Given the description of an element on the screen output the (x, y) to click on. 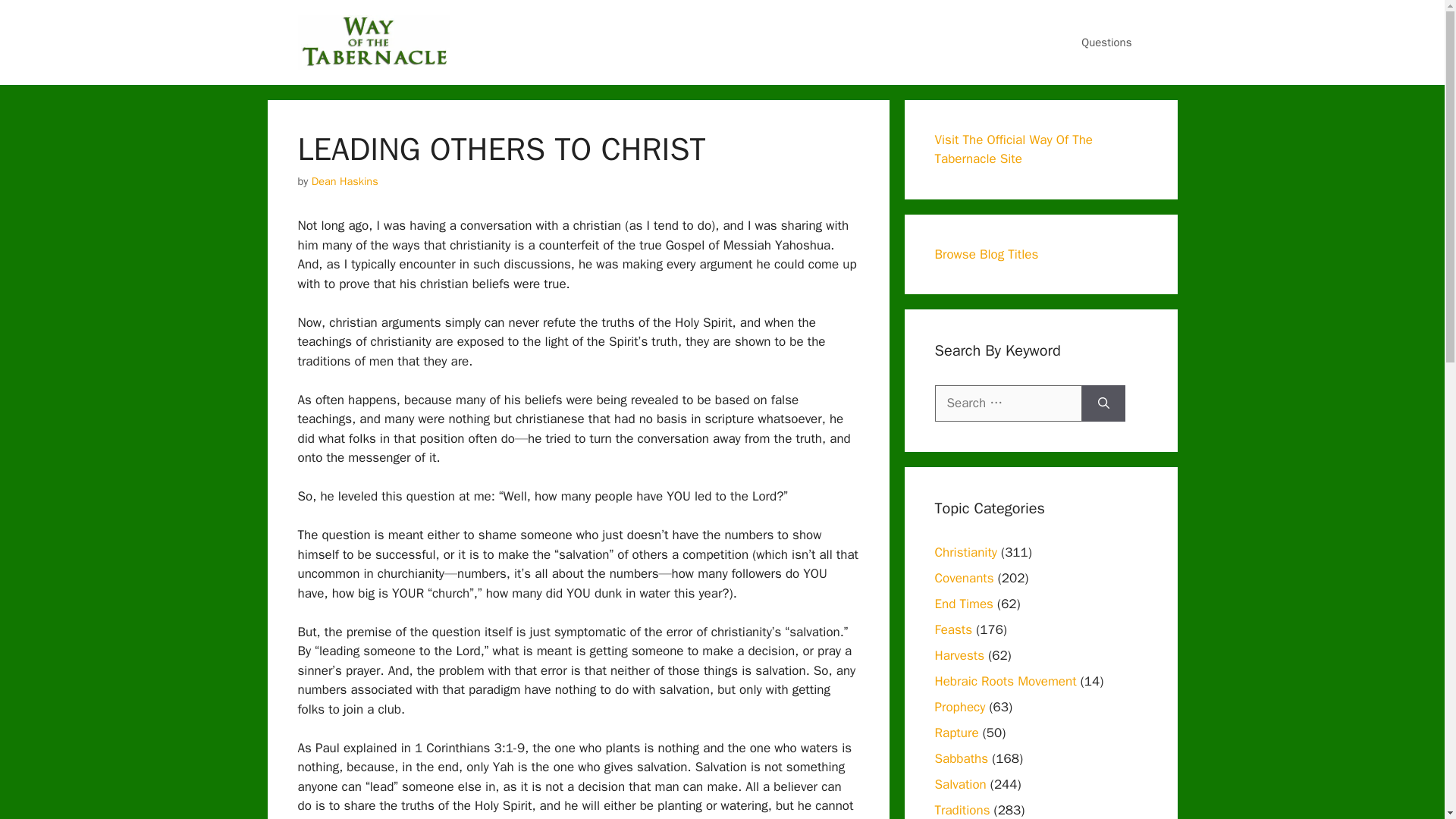
Visit The Official Way Of The Tabernacle Site (1013, 149)
Salvation (959, 784)
Traditions (962, 810)
Christianity (964, 552)
Harvests (959, 655)
Way Of The Tabernacle Blog (372, 41)
Way Of The Tabernacle Blog (372, 42)
End Times (963, 603)
Feasts (953, 629)
Sabbaths (961, 758)
